Given the description of an element on the screen output the (x, y) to click on. 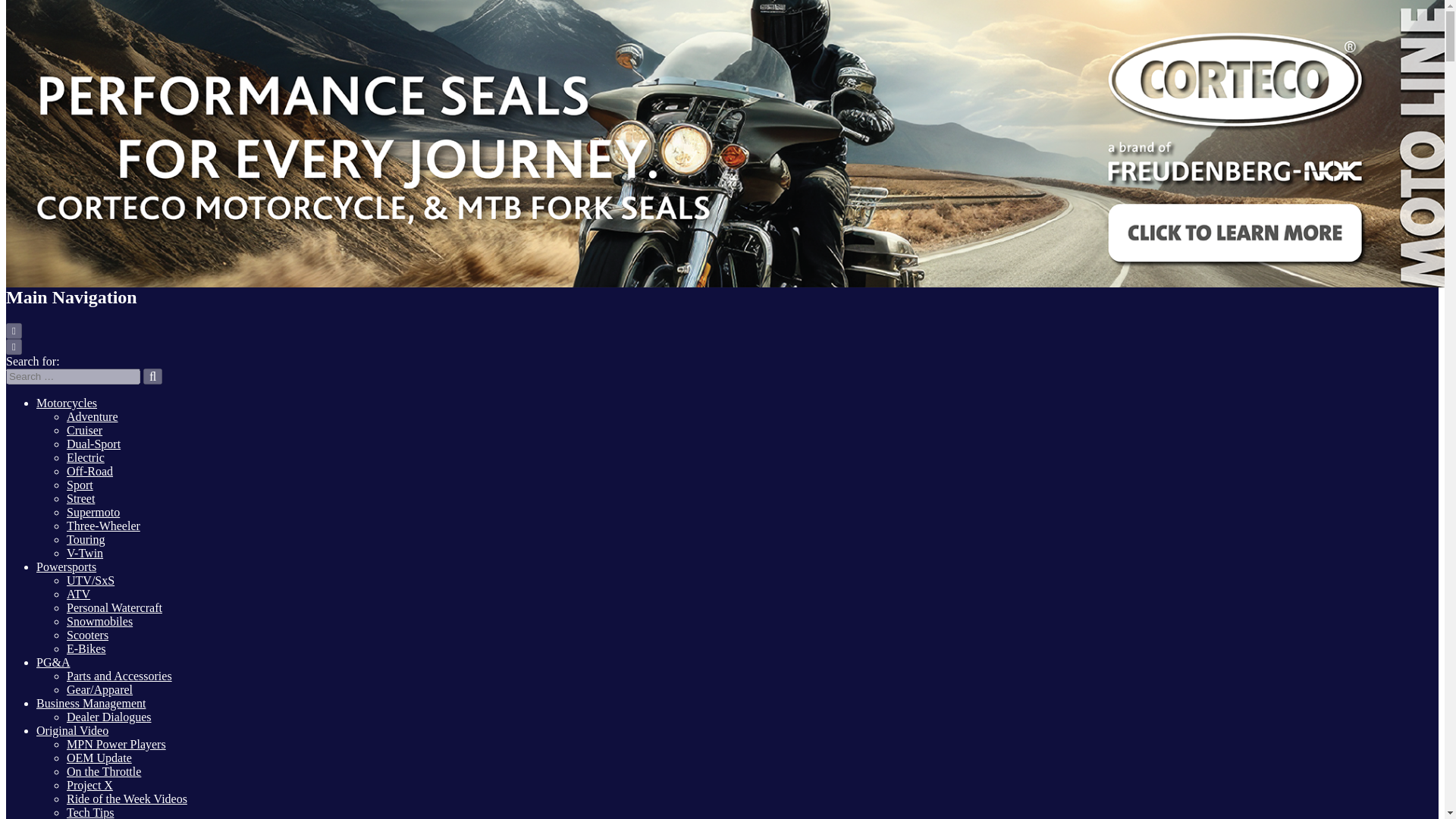
V-Twin (84, 553)
Electric (85, 457)
Three-Wheeler (102, 525)
Off-Road (89, 471)
Motorcycles (66, 402)
Dealer Dialogues (108, 716)
Ride of the Week Videos (126, 798)
ATV (78, 594)
E-Bikes (86, 648)
Sport (79, 484)
Tech Tips (89, 812)
Cruiser (83, 430)
Project X (89, 784)
Electric (85, 457)
V-Twin (84, 553)
